Given the description of an element on the screen output the (x, y) to click on. 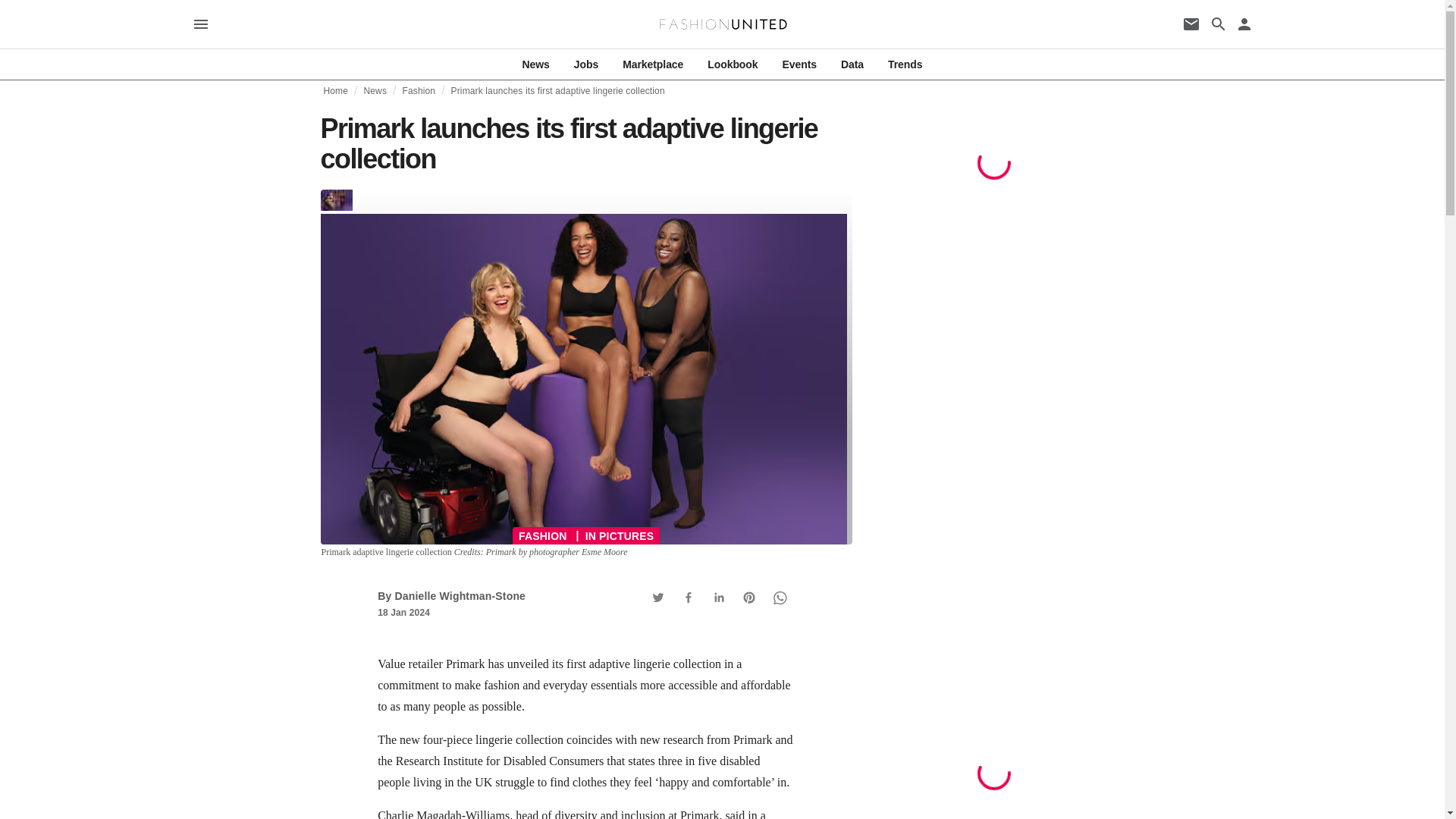
Fashion (418, 90)
Home (335, 90)
By Danielle Wightman-Stone (451, 595)
Trends (905, 64)
News (536, 64)
Data (852, 64)
Marketplace (652, 64)
Primark launches its first adaptive lingerie collection (558, 90)
Lookbook (732, 64)
Events (799, 64)
Jobs (586, 64)
News (375, 90)
